Given the description of an element on the screen output the (x, y) to click on. 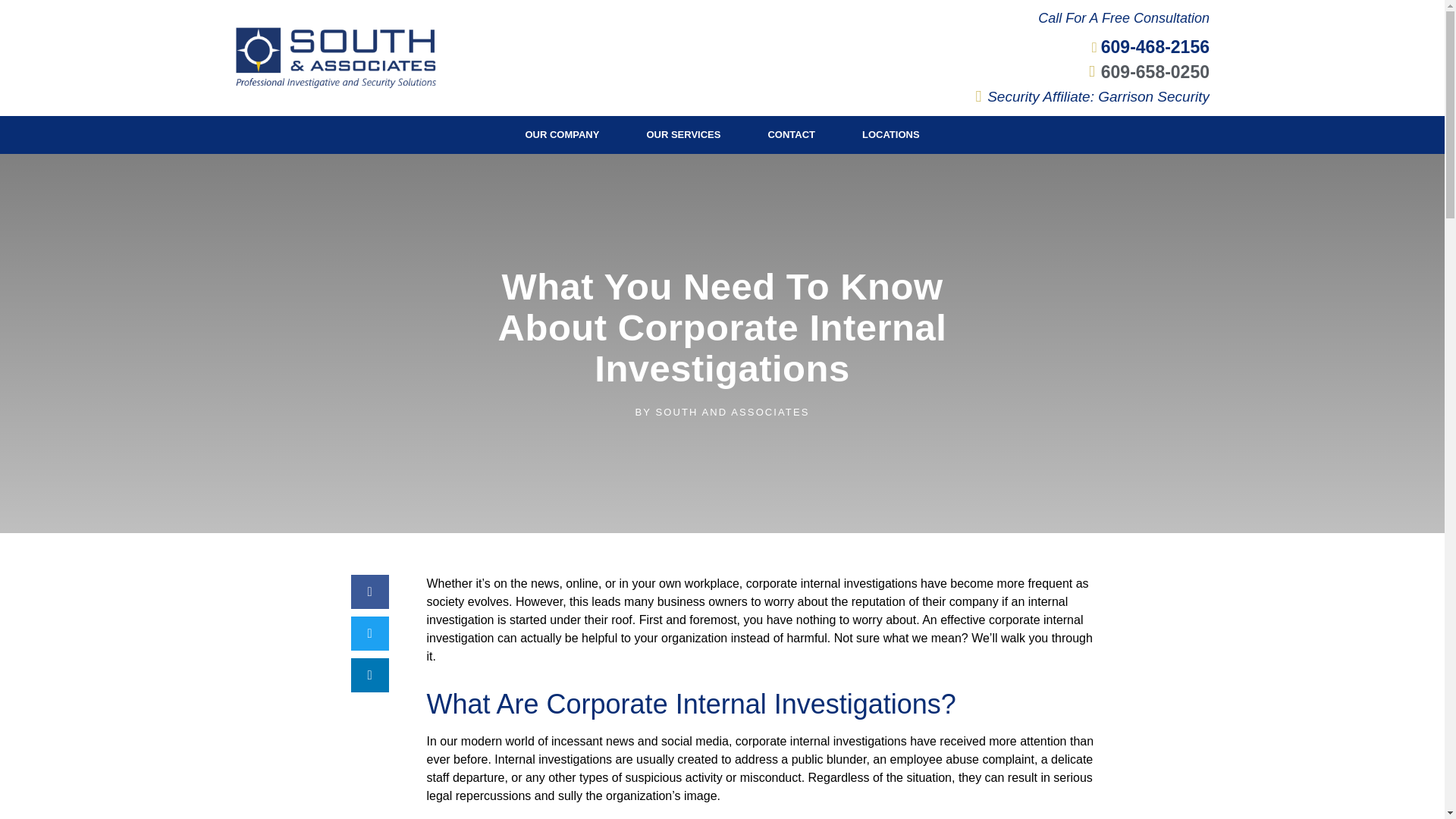
609-468-2156 (1143, 47)
609-658-0250 (1142, 71)
CONTACT (791, 134)
OUR SERVICES (683, 134)
LOCATIONS (890, 134)
OUR COMPANY (561, 134)
Security Affiliate: Garrison Security (1084, 96)
